Given the description of an element on the screen output the (x, y) to click on. 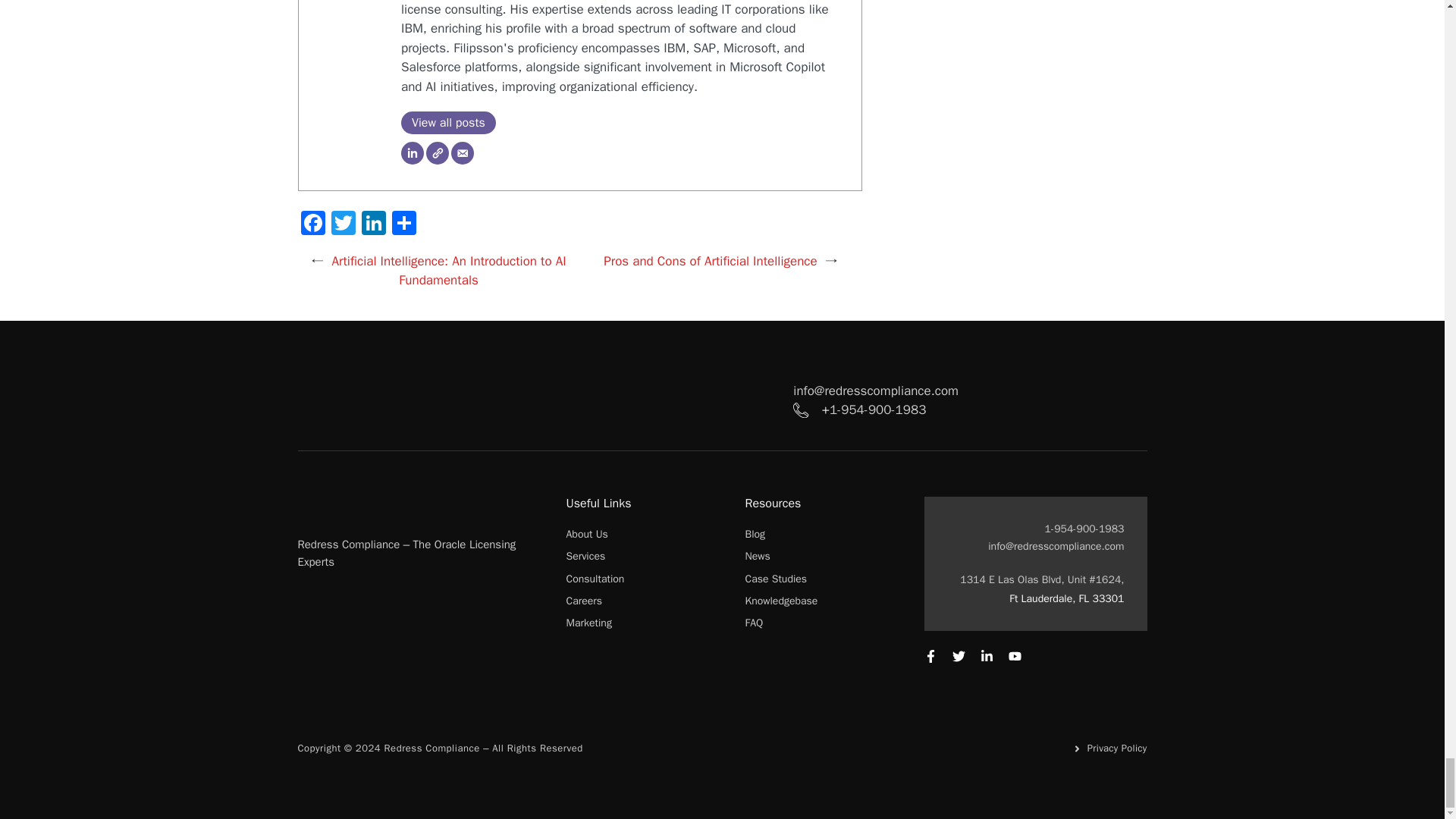
View all posts (448, 122)
Facebook (312, 224)
Twitter (342, 224)
